Given the description of an element on the screen output the (x, y) to click on. 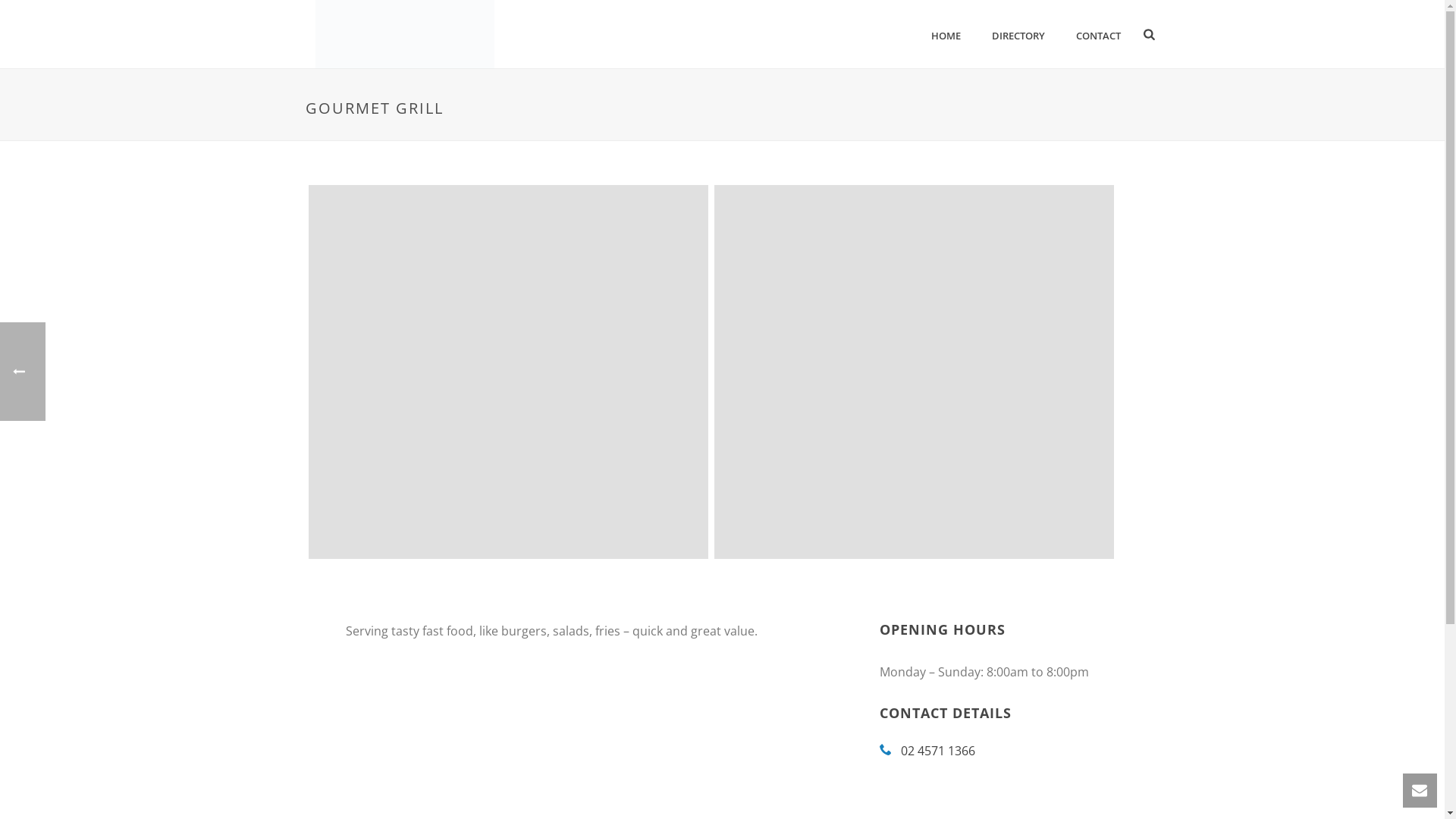
HOME Element type: text (945, 34)
6-16-riverview-st-north-richmond-295 Element type: hover (913, 371)
6-16-riverview-st-north-richmond-269 Element type: hover (507, 371)
DIRECTORY Element type: text (1018, 34)
CONTACT Element type: text (1097, 34)
North Richmond Village Element type: hover (403, 34)
